Given the description of an element on the screen output the (x, y) to click on. 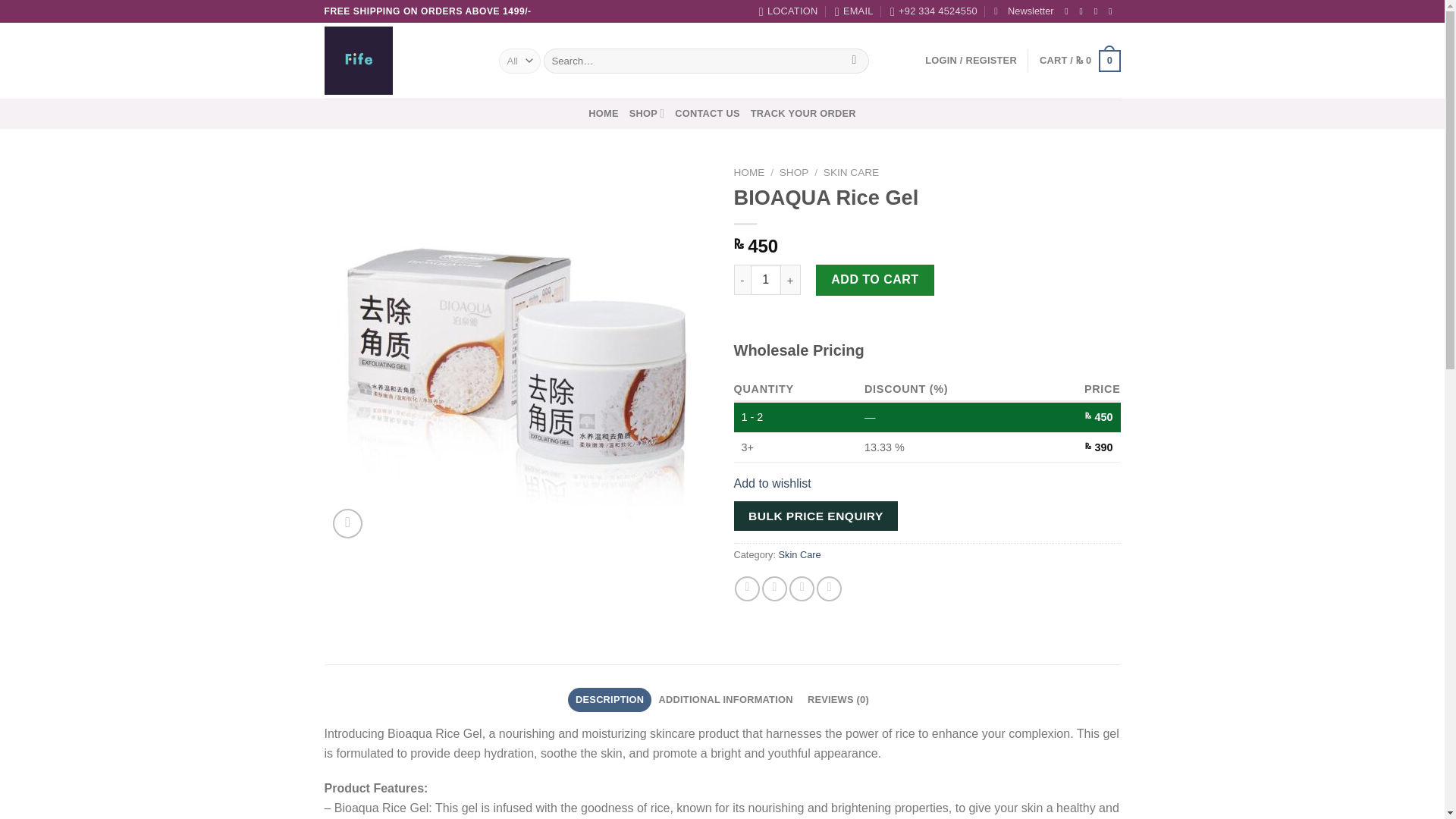
Cart (1080, 61)
SHOP (793, 172)
BULK PRICE ENQUIRY (815, 515)
Sign up for Newsletter (1023, 11)
LOCATION (788, 11)
1 (765, 279)
HOME (602, 113)
HOME (749, 172)
Fife Store - Pakistan's First Wholesale Online Store (400, 60)
ADD TO CART (874, 279)
Search (853, 61)
CONTACT US (707, 113)
Add to wishlist (771, 482)
Zoom (347, 523)
